Given the description of an element on the screen output the (x, y) to click on. 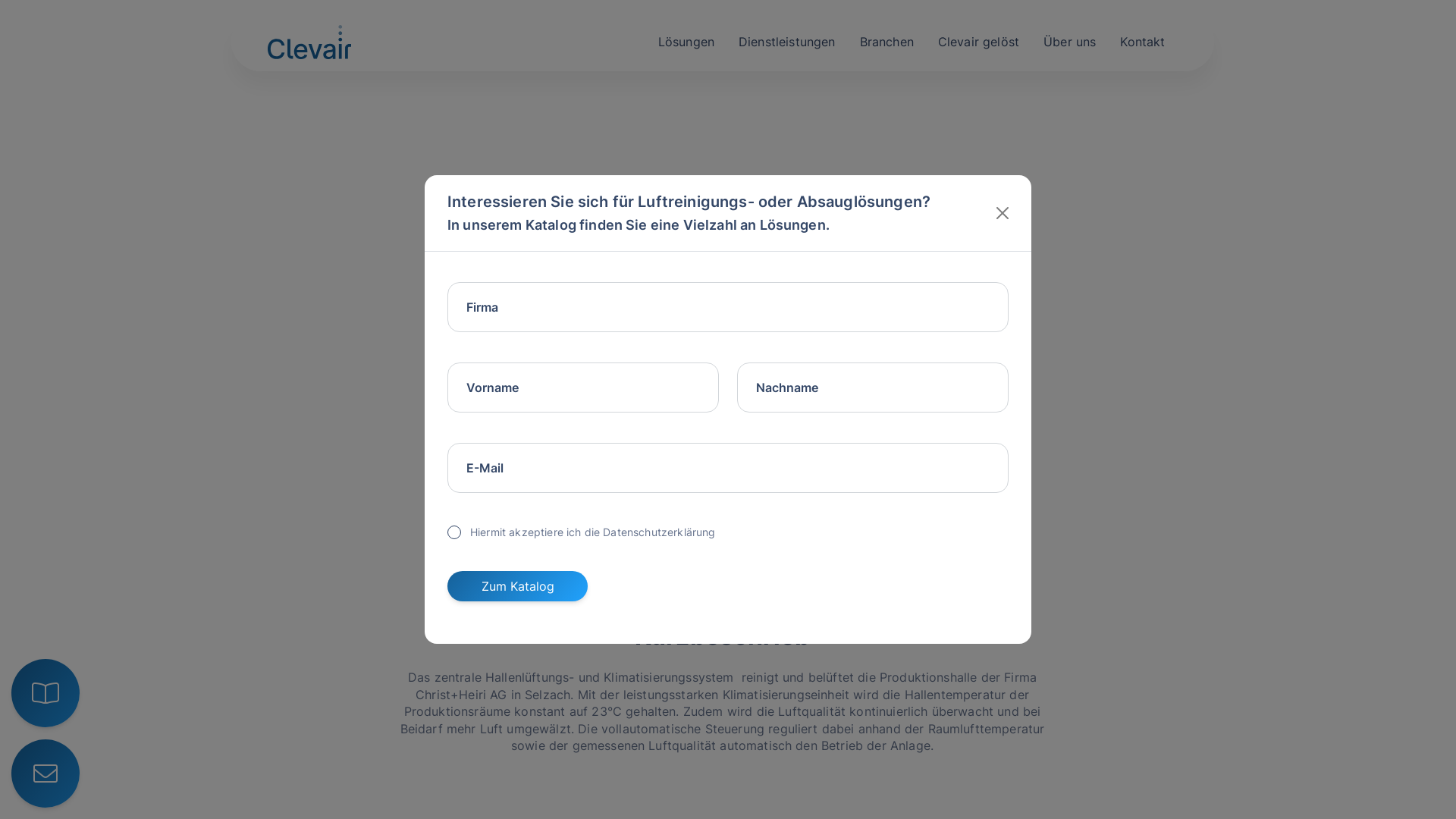
Branchen Element type: text (886, 40)
Kontakt Element type: text (1141, 40)
Dienstleistungen Element type: text (786, 40)
Zum Katalog Element type: text (517, 586)
